Given the description of an element on the screen output the (x, y) to click on. 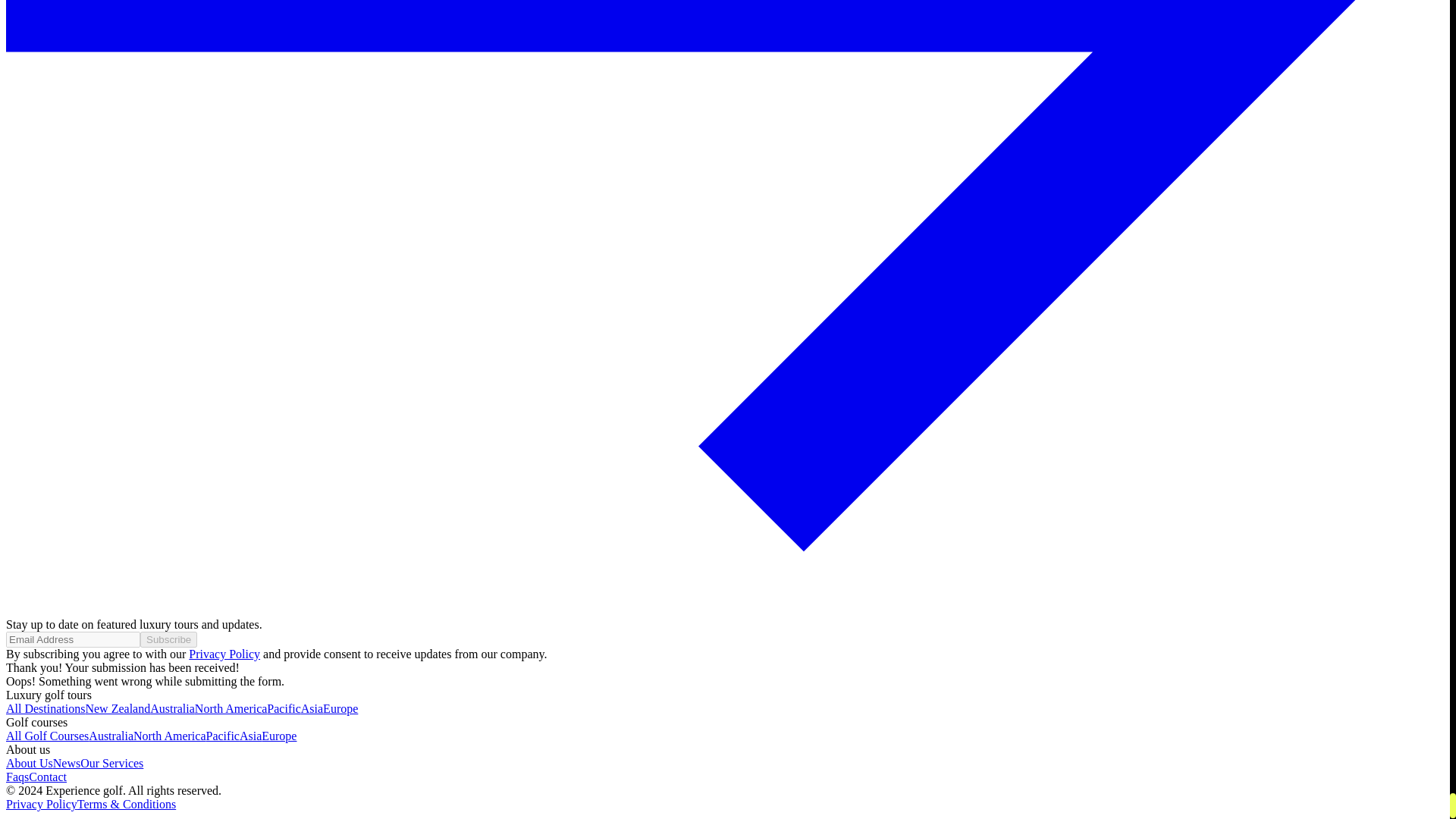
Subscribe (167, 639)
